Given the description of an element on the screen output the (x, y) to click on. 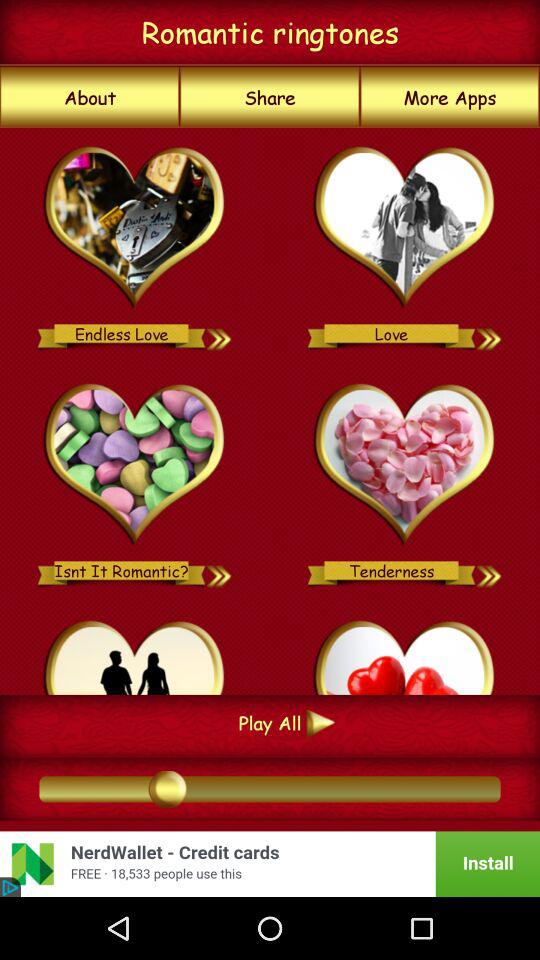
toggle ringtone preview (220, 333)
